Given the description of an element on the screen output the (x, y) to click on. 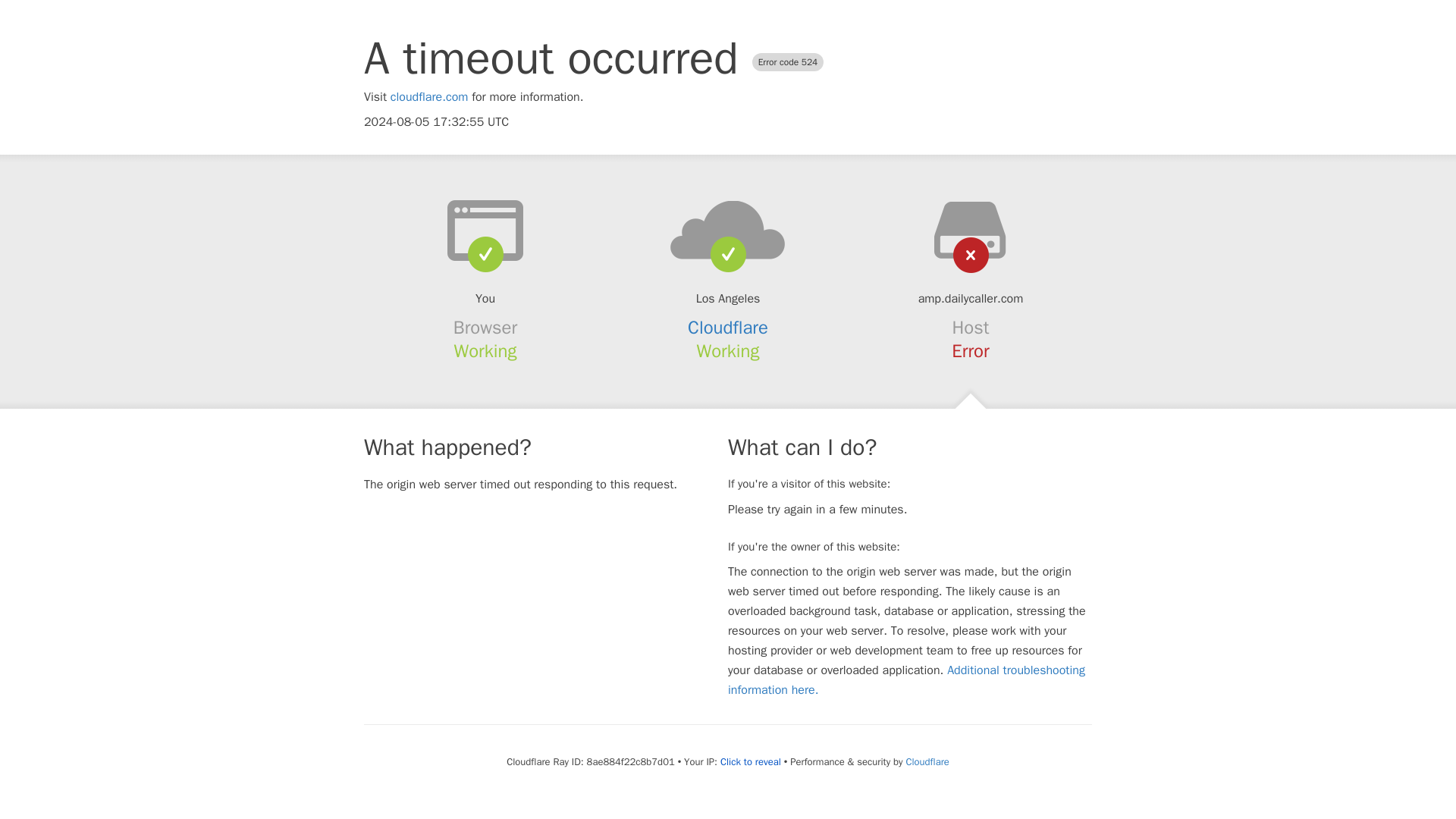
cloudflare.com (429, 96)
Click to reveal (750, 762)
Cloudflare (727, 327)
Cloudflare (927, 761)
Additional troubleshooting information here. (906, 679)
